Given the description of an element on the screen output the (x, y) to click on. 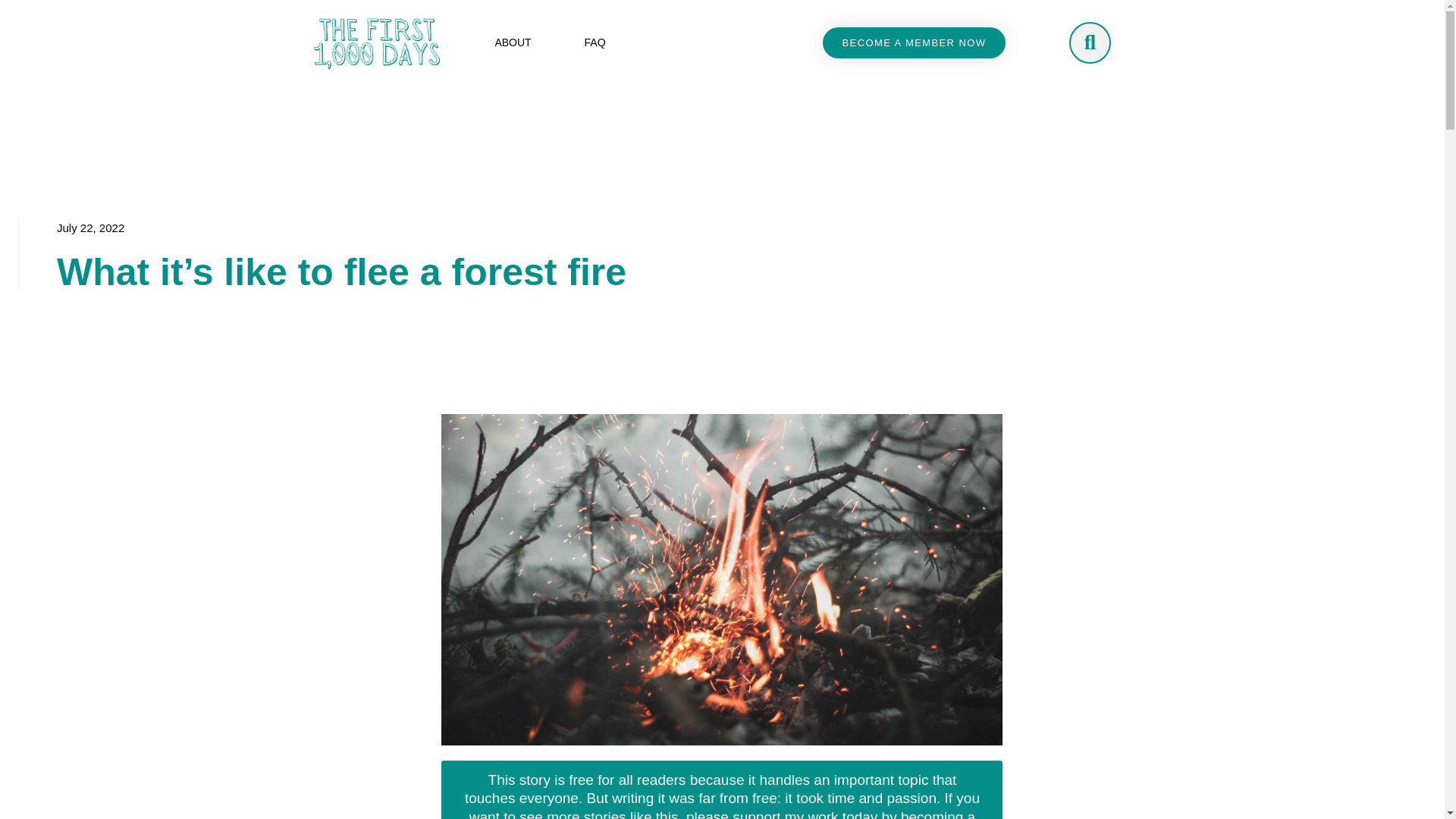
ABOUT (512, 41)
July 22, 2022 (89, 228)
BECOME A MEMBER NOW (914, 42)
FAQ (595, 41)
